Given the description of an element on the screen output the (x, y) to click on. 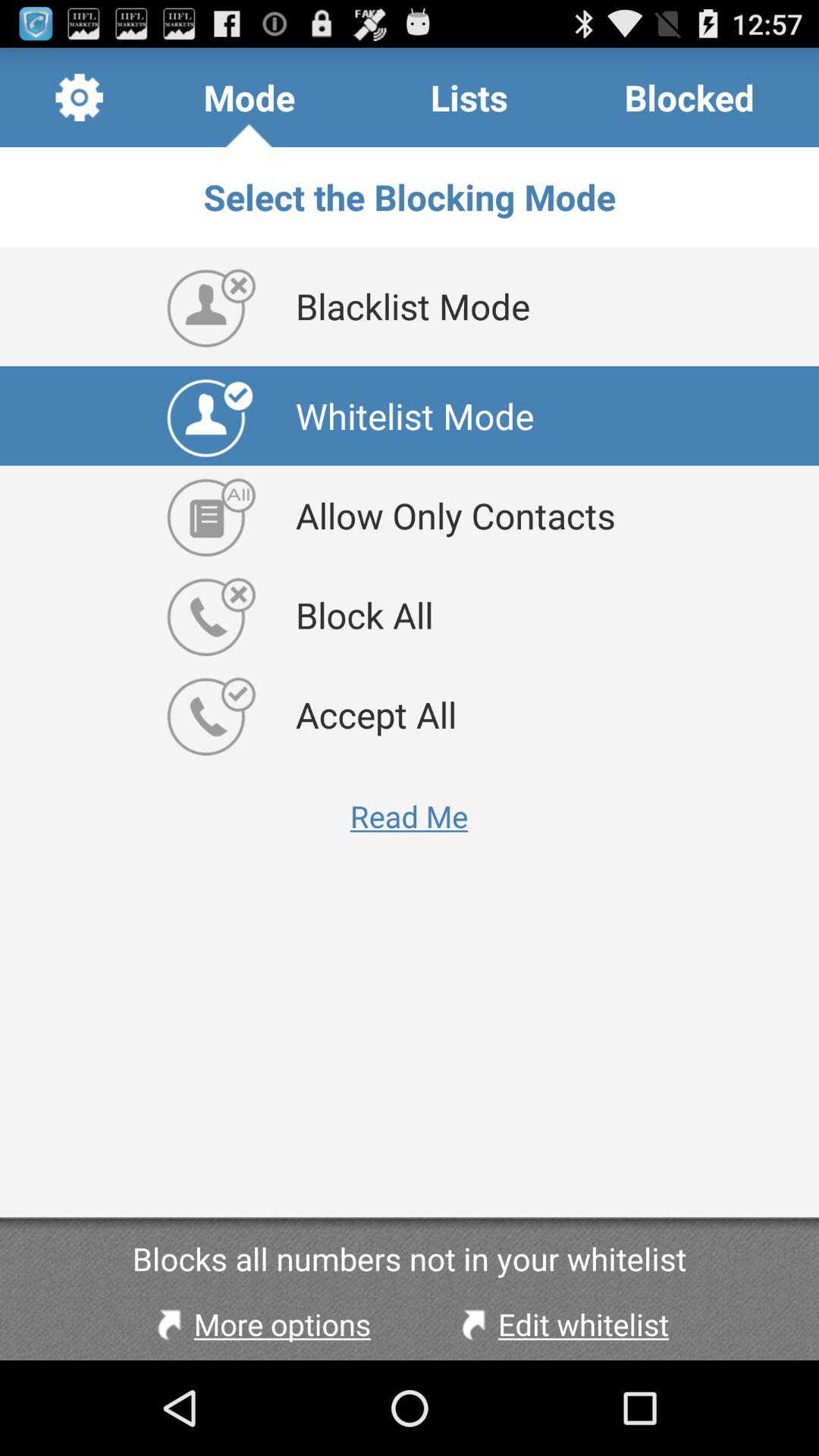
choose app above blocks all numbers item (408, 816)
